Given the description of an element on the screen output the (x, y) to click on. 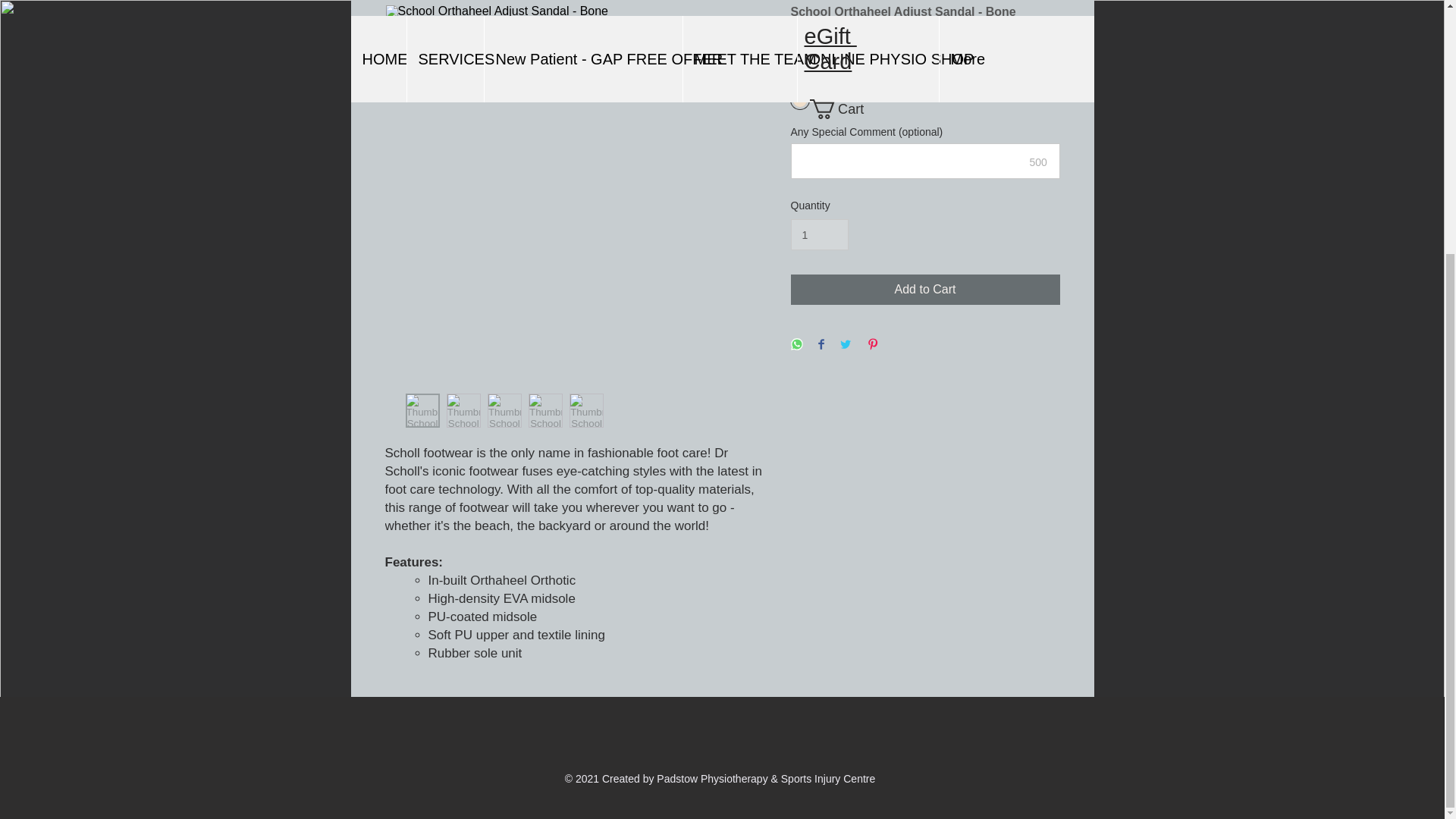
1 (818, 234)
